Given the description of an element on the screen output the (x, y) to click on. 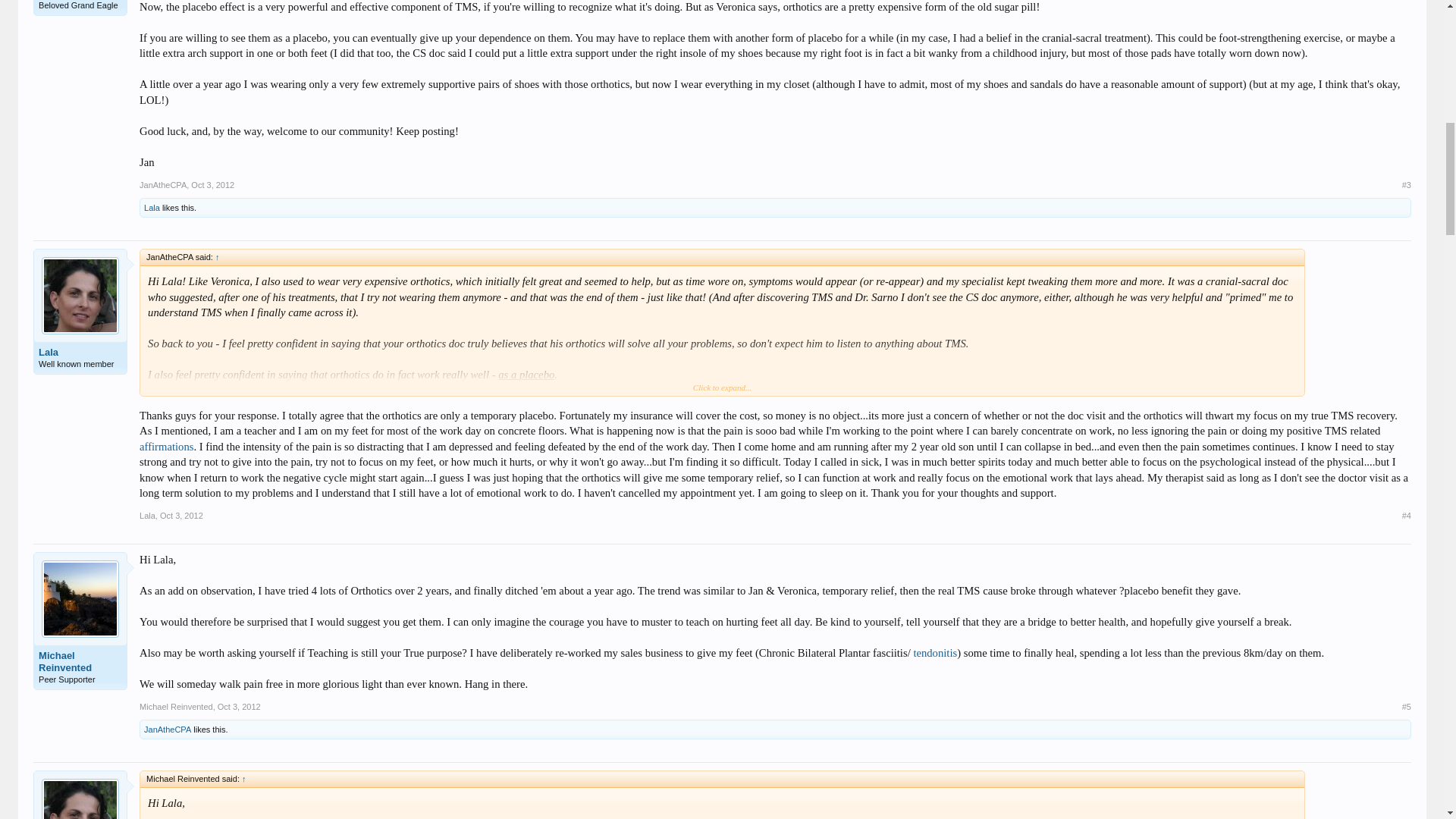
Permalink (212, 184)
Permalink (181, 515)
Lala (152, 207)
Oct 3, 2012 (212, 184)
JanAtheCPA (162, 184)
Lala (80, 352)
Affirmations (165, 446)
